Given the description of an element on the screen output the (x, y) to click on. 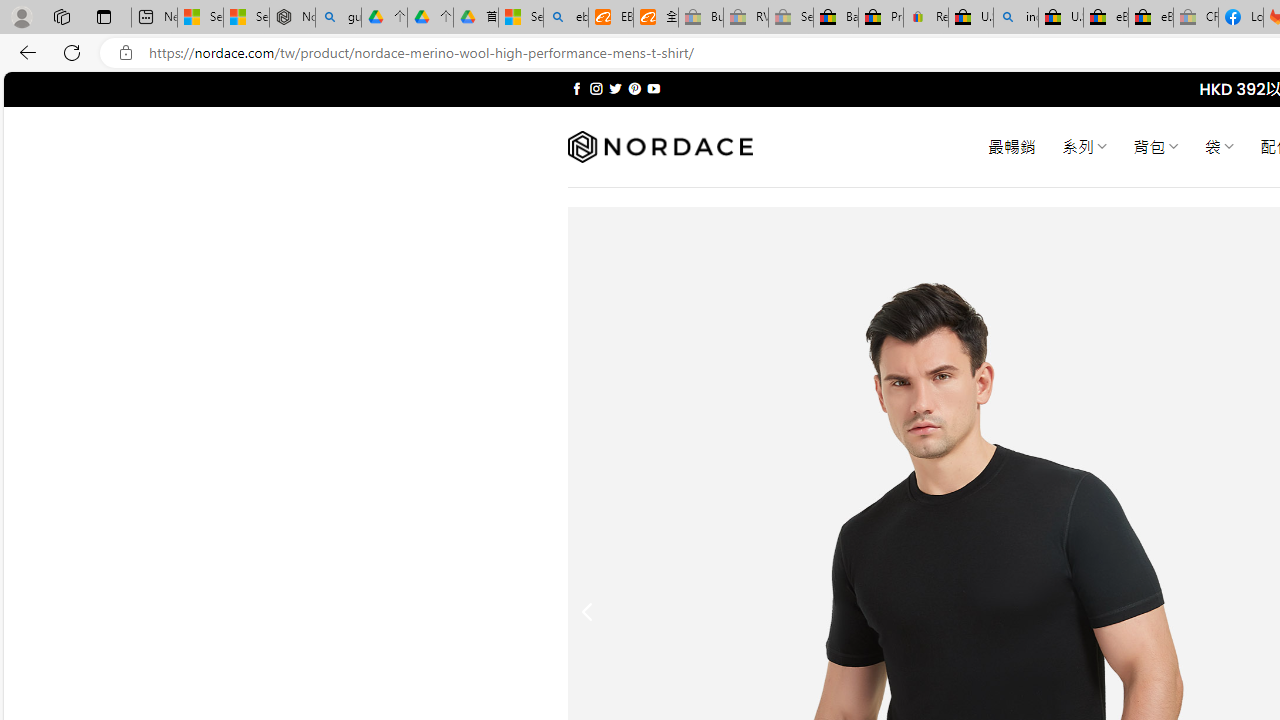
eBay Inc. Reports Third Quarter 2023 Results (1150, 17)
Log into Facebook (1240, 17)
Follow on YouTube (653, 88)
Press Room - eBay Inc. (880, 17)
Nordace (659, 147)
Workspaces (61, 16)
Baby Keepsakes & Announcements for sale | eBay (835, 17)
ebay - Search (565, 17)
Follow on Pinterest (634, 88)
Follow on Facebook (576, 88)
